Given the description of an element on the screen output the (x, y) to click on. 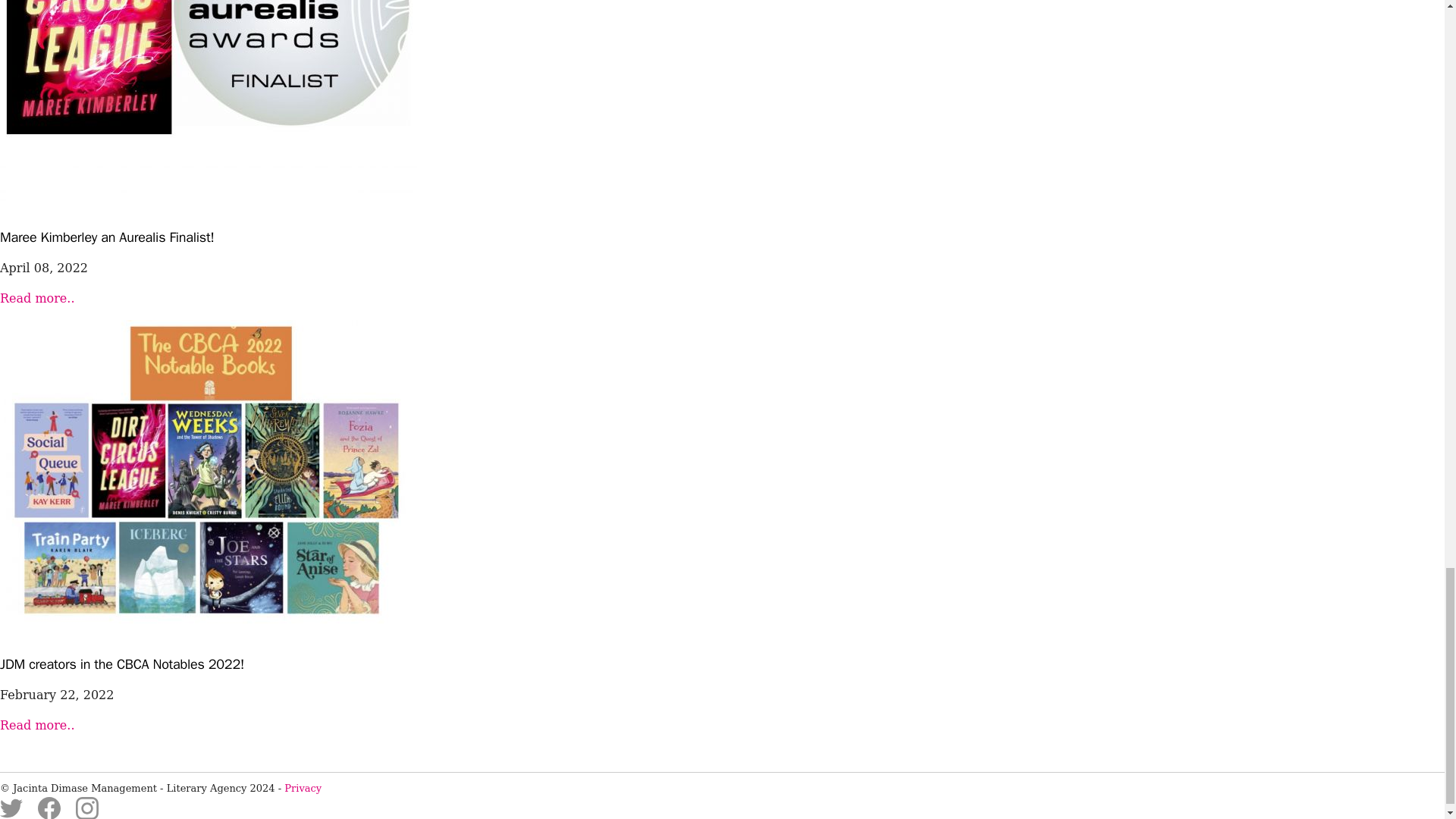
Privacy (302, 787)
Read more.. (37, 298)
Read more.. (37, 725)
